Given the description of an element on the screen output the (x, y) to click on. 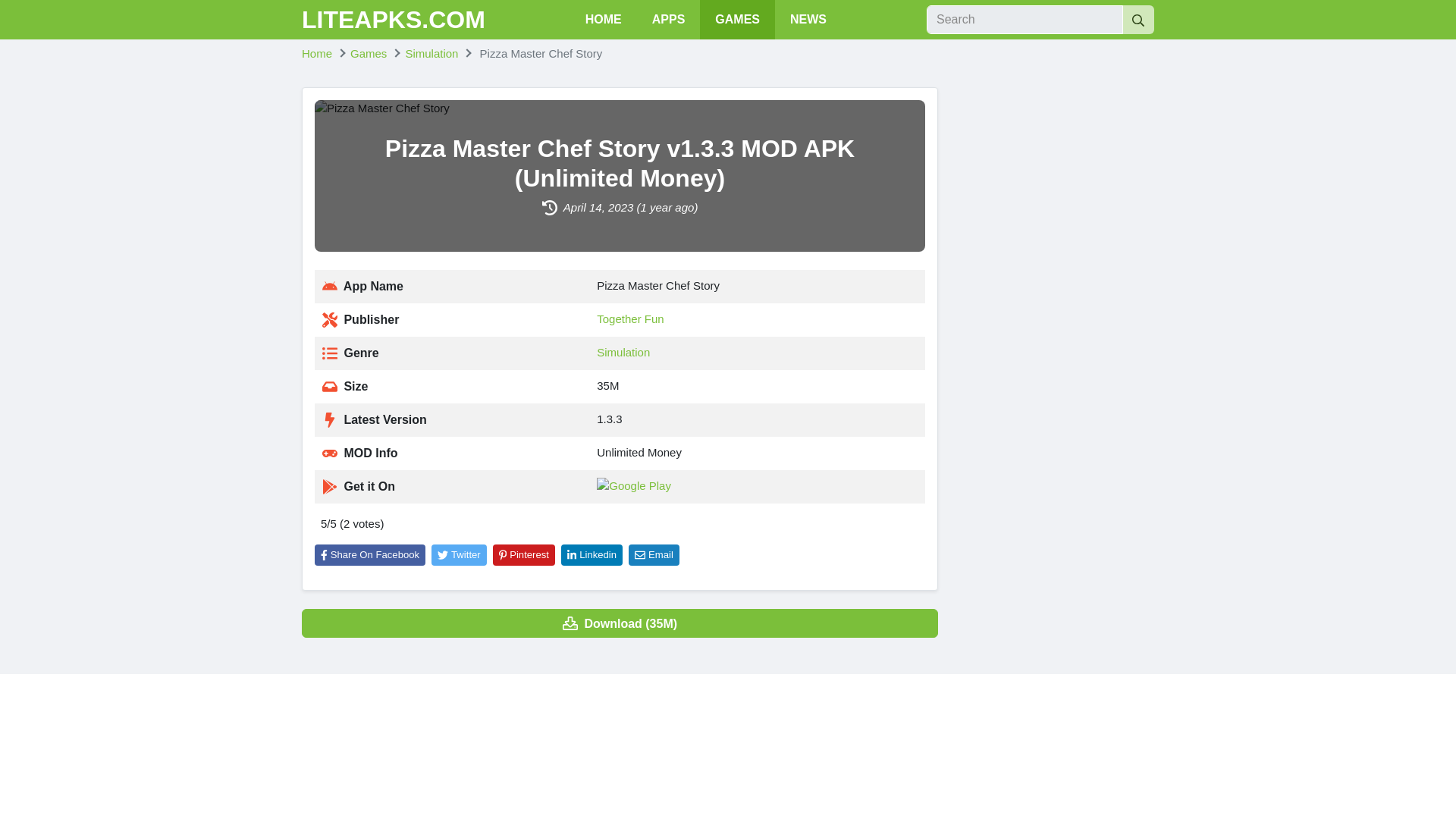
GAMES (737, 19)
APPS (668, 19)
Linkedin (591, 554)
Twitter (458, 554)
Simulation (431, 52)
Games (368, 52)
Pinterest (523, 554)
Home (316, 52)
LITEAPKS.COM (392, 19)
NEWS (807, 19)
